Given the description of an element on the screen output the (x, y) to click on. 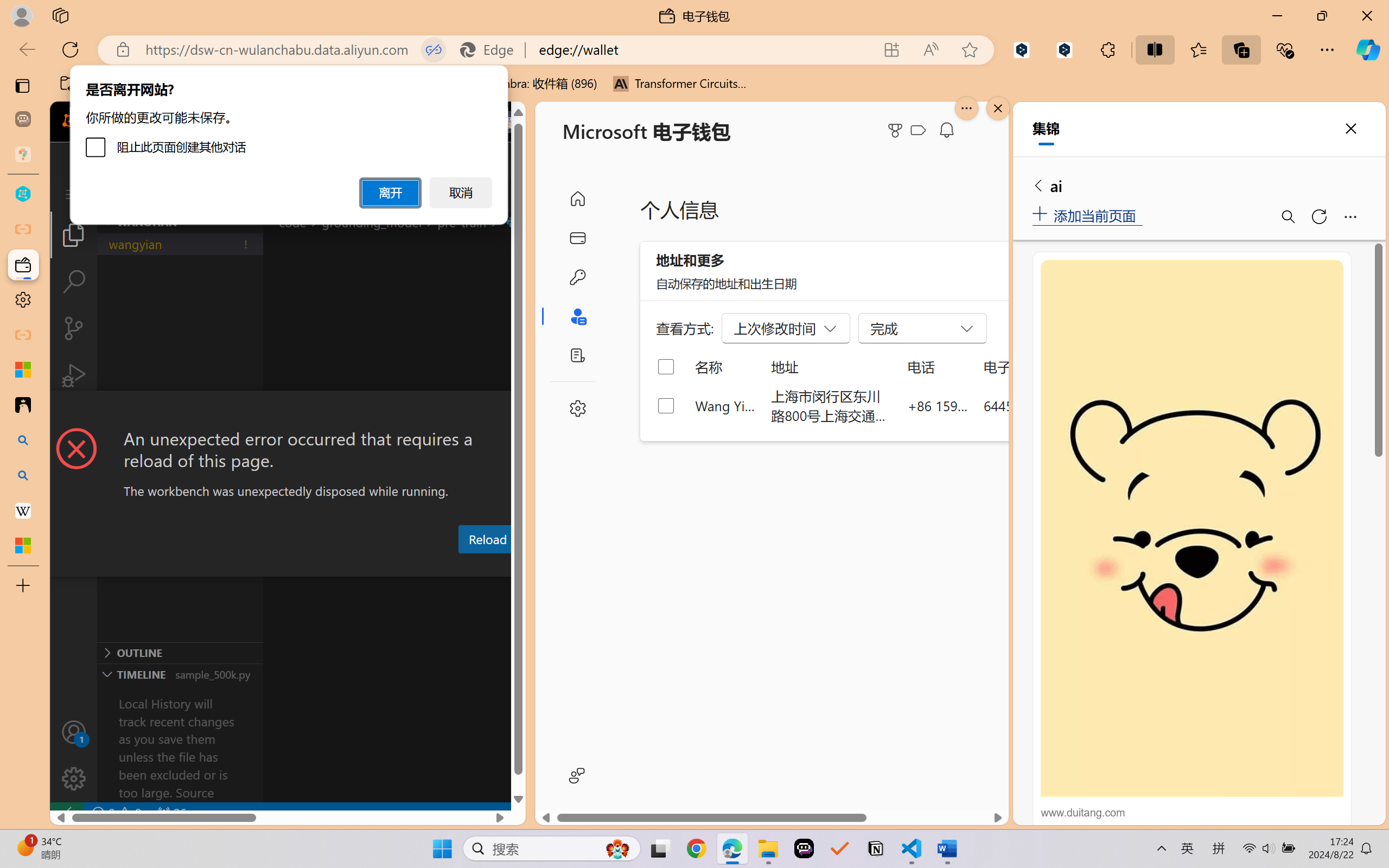
Close Dialog (520, 410)
Timeline Section (179, 673)
Copilot (Ctrl+Shift+.) (1368, 49)
Manage (73, 778)
remote (66, 812)
